Given the description of an element on the screen output the (x, y) to click on. 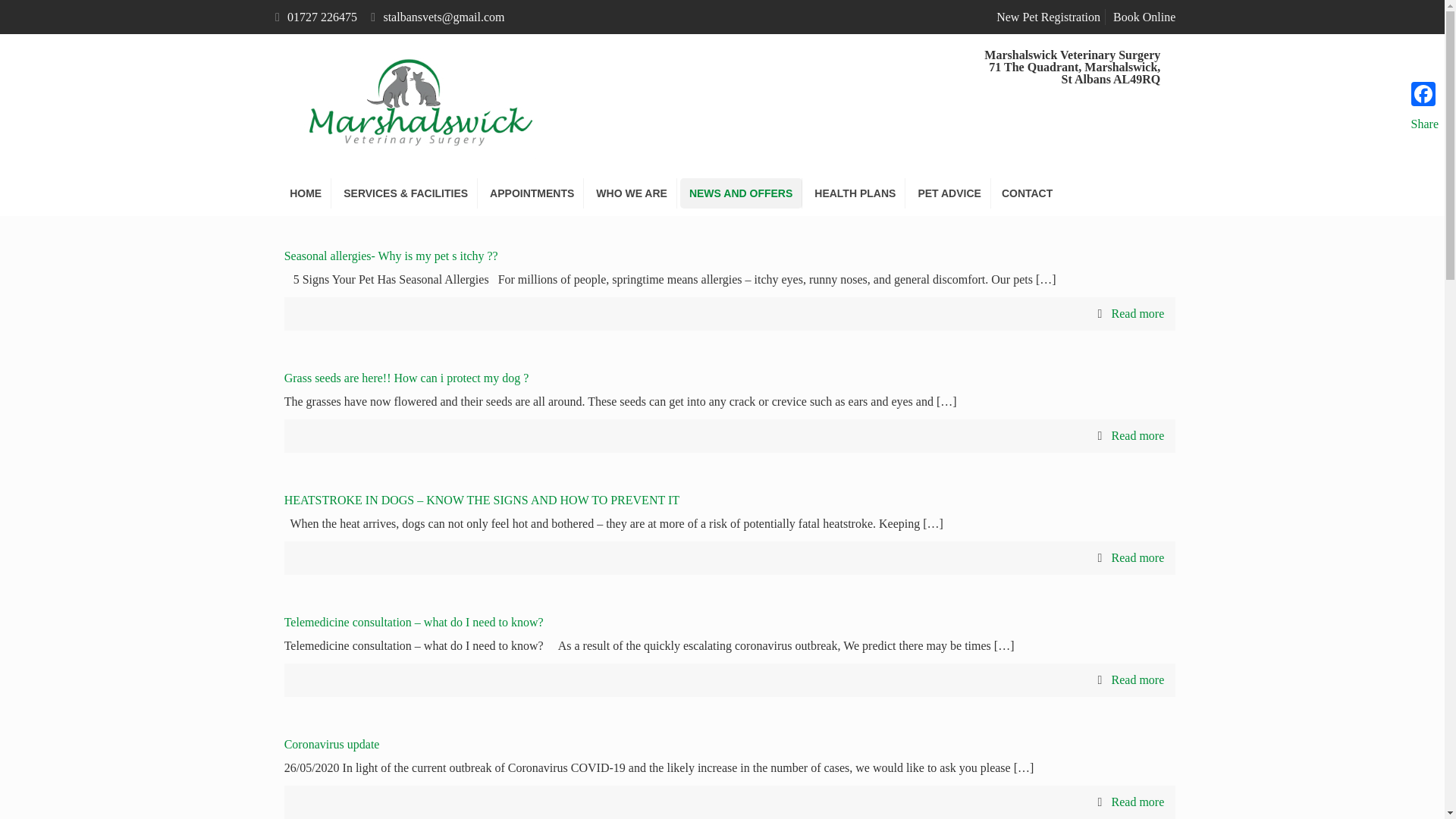
Book Online (1143, 16)
WHO WE ARE (631, 193)
HOME (306, 193)
NEWS AND OFFERS (740, 193)
01727 226475 (321, 16)
New Pet Registration (1047, 16)
APPOINTMENTS (531, 193)
Facebook (1424, 93)
Marshalswick Veterinary Surgery (414, 102)
HEALTH PLANS (855, 193)
